Given the description of an element on the screen output the (x, y) to click on. 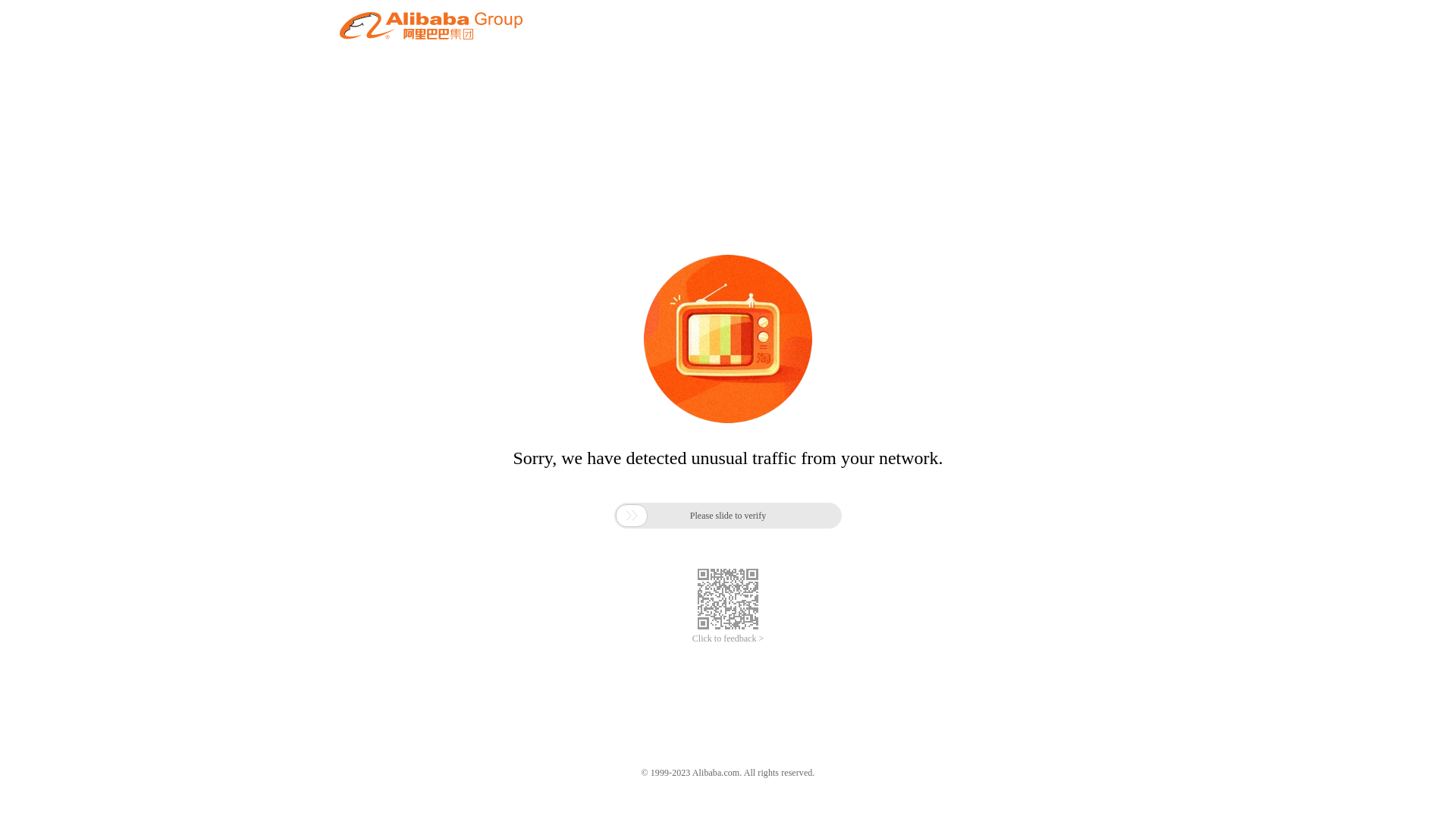
Click to feedback > Element type: text (727, 638)
